Given the description of an element on the screen output the (x, y) to click on. 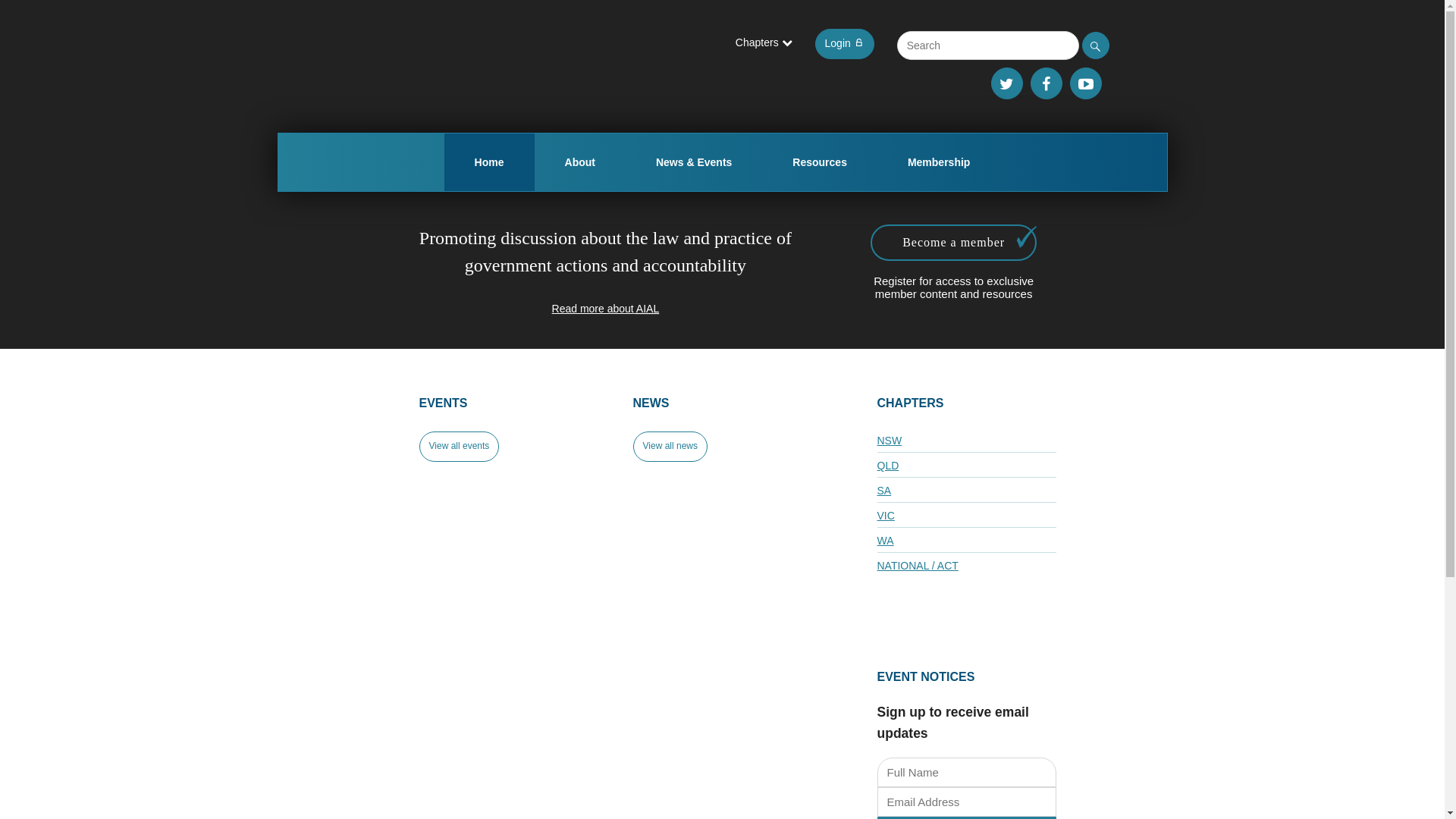
NSW Element type: text (965, 439)
NATIONAL / ACT Element type: text (965, 564)
View all news Element type: text (669, 446)
Login Element type: text (844, 43)
View all events Element type: text (458, 446)
Become a member Element type: text (953, 242)
WA Element type: text (965, 539)
QLD Element type: text (965, 464)
News & Events Element type: text (693, 162)
VIC Element type: text (965, 514)
Read more about AIAL Element type: text (605, 308)
Resources Element type: text (819, 162)
Home Element type: text (489, 162)
About Element type: text (579, 162)
SA Element type: text (965, 489)
Membership Element type: text (938, 162)
